Given the description of an element on the screen output the (x, y) to click on. 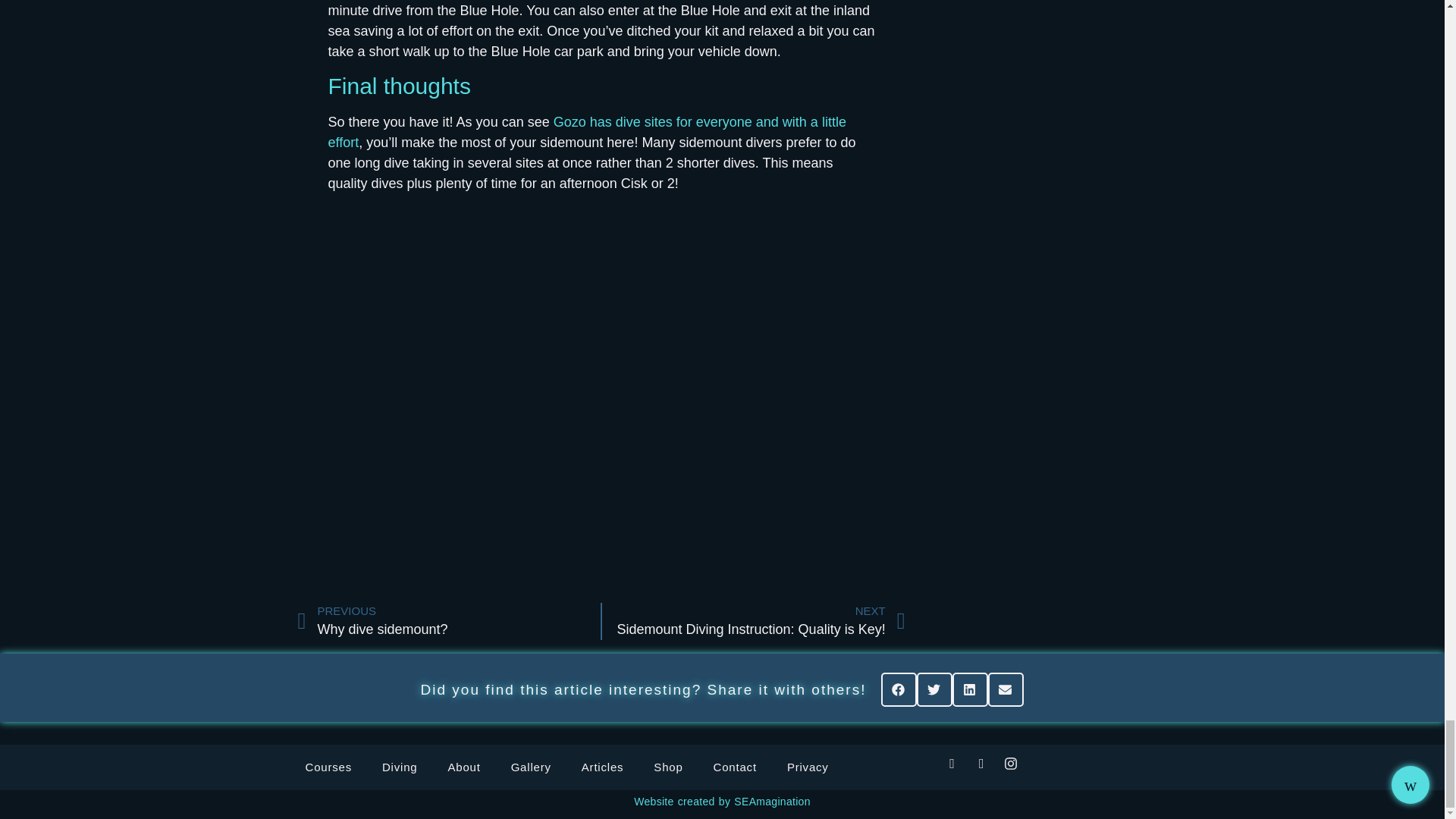
Gozo has dive sites for everyone and with a little effort (448, 621)
